Given the description of an element on the screen output the (x, y) to click on. 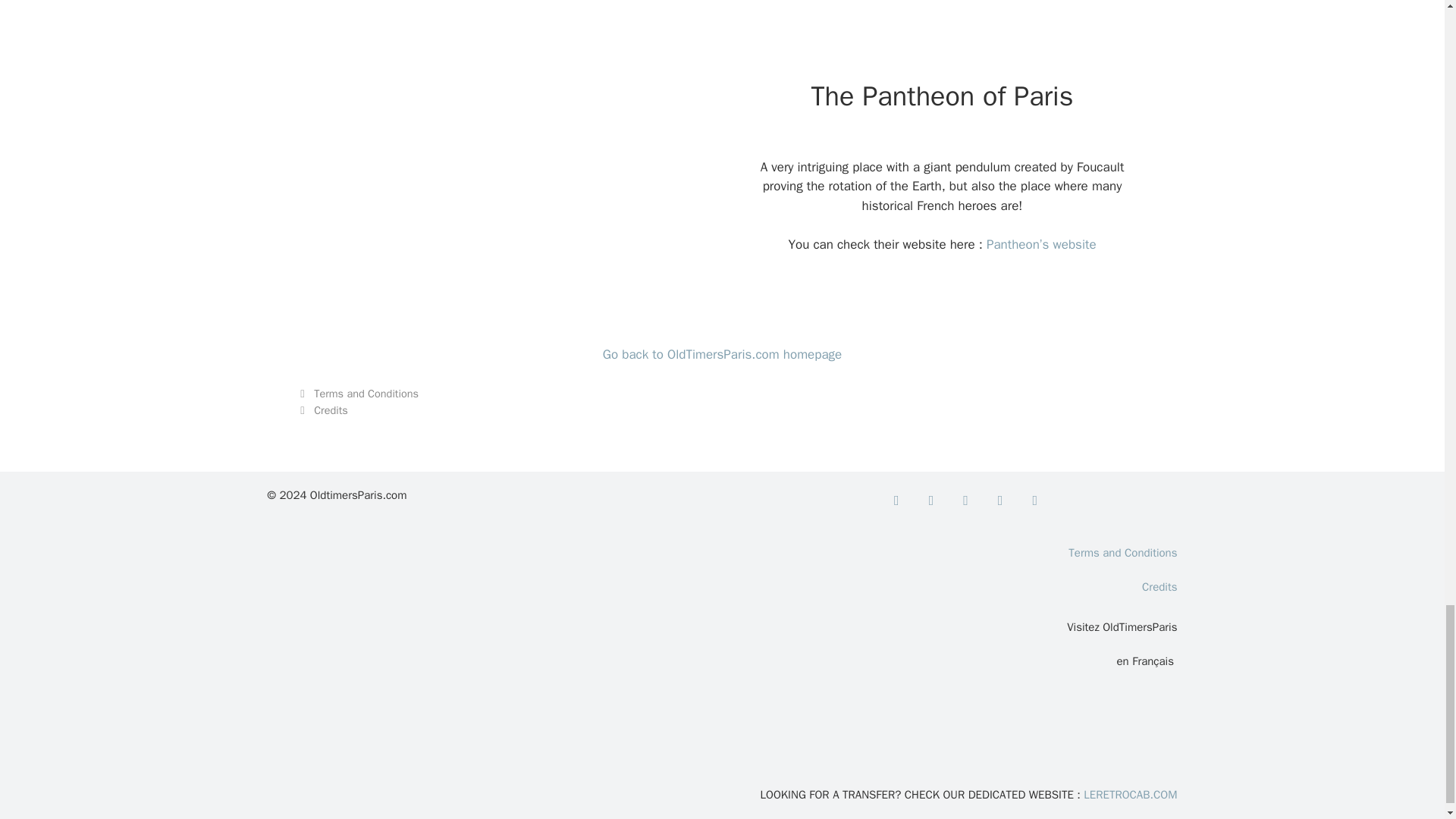
Instagram (965, 500)
Terms and Conditions (366, 393)
Credits (330, 409)
Twitter (930, 500)
Facebook (896, 500)
Trip Advisor (1034, 500)
Go back to OldTimersParis.com homepage (721, 354)
Pinterest (999, 500)
